Given the description of an element on the screen output the (x, y) to click on. 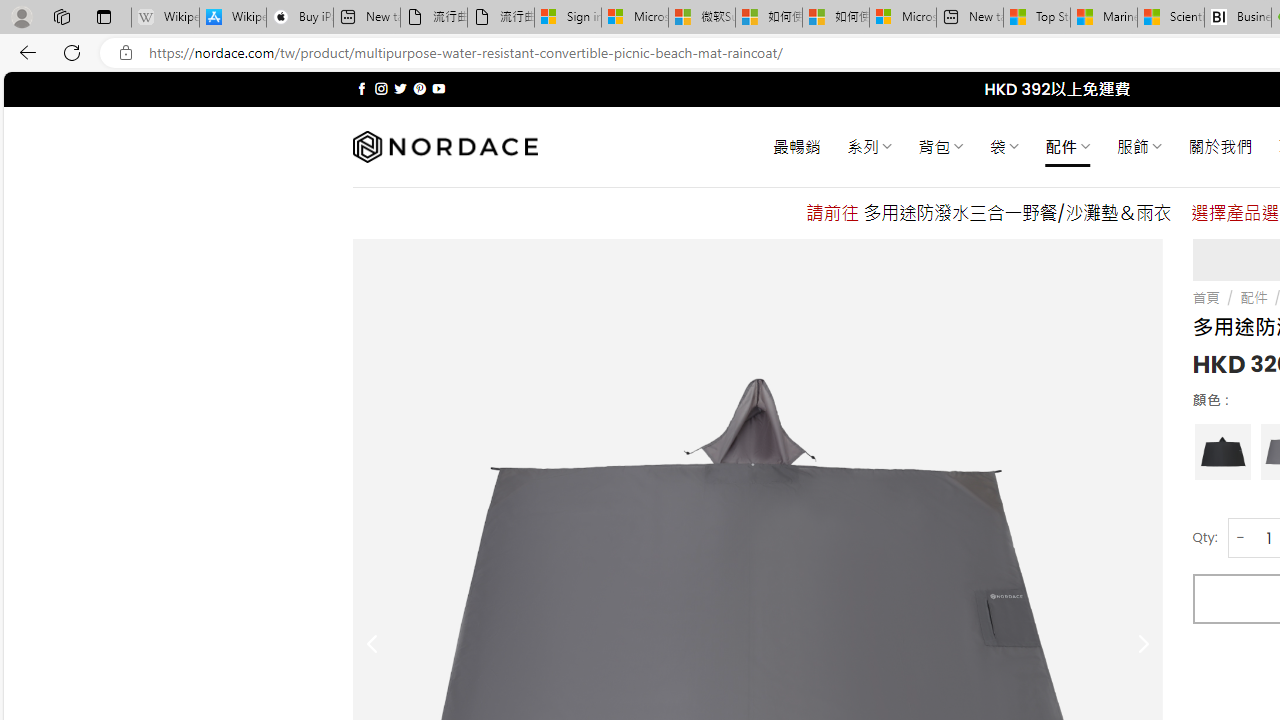
- (1240, 537)
Follow on Instagram (381, 88)
